Given the description of an element on the screen output the (x, y) to click on. 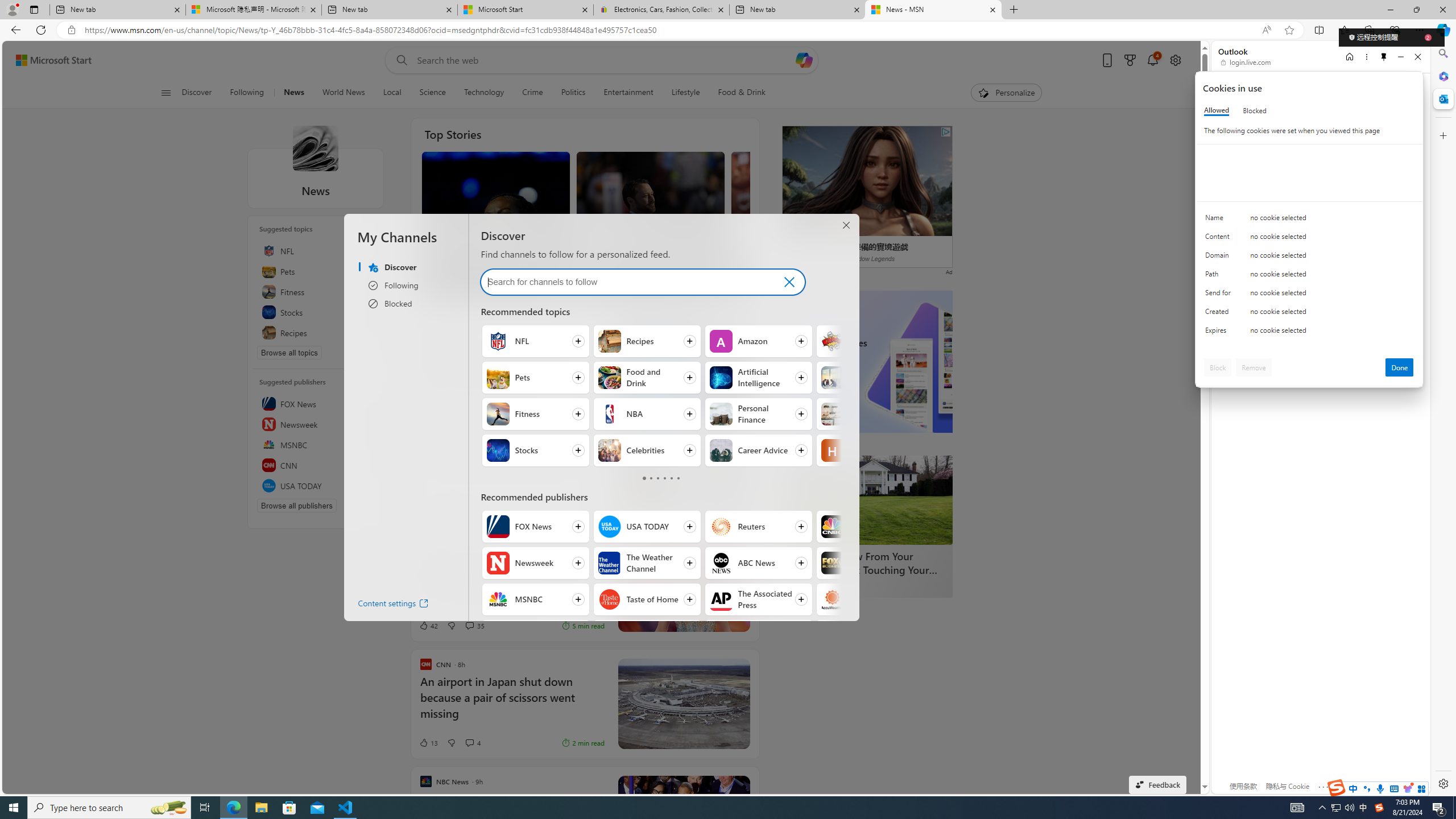
News (293, 92)
CNN (315, 465)
Expires (1219, 332)
Done (1399, 367)
Domain (1219, 257)
Created (1219, 313)
Microsoft Start (525, 9)
Follow Stocks (535, 450)
Skip to footer (46, 59)
Web search (398, 60)
Crime (531, 92)
Fitness (497, 413)
Class: creative__ad-choice_image (945, 131)
Use AI To Find Relevant Comps (499, 467)
